Given the description of an element on the screen output the (x, y) to click on. 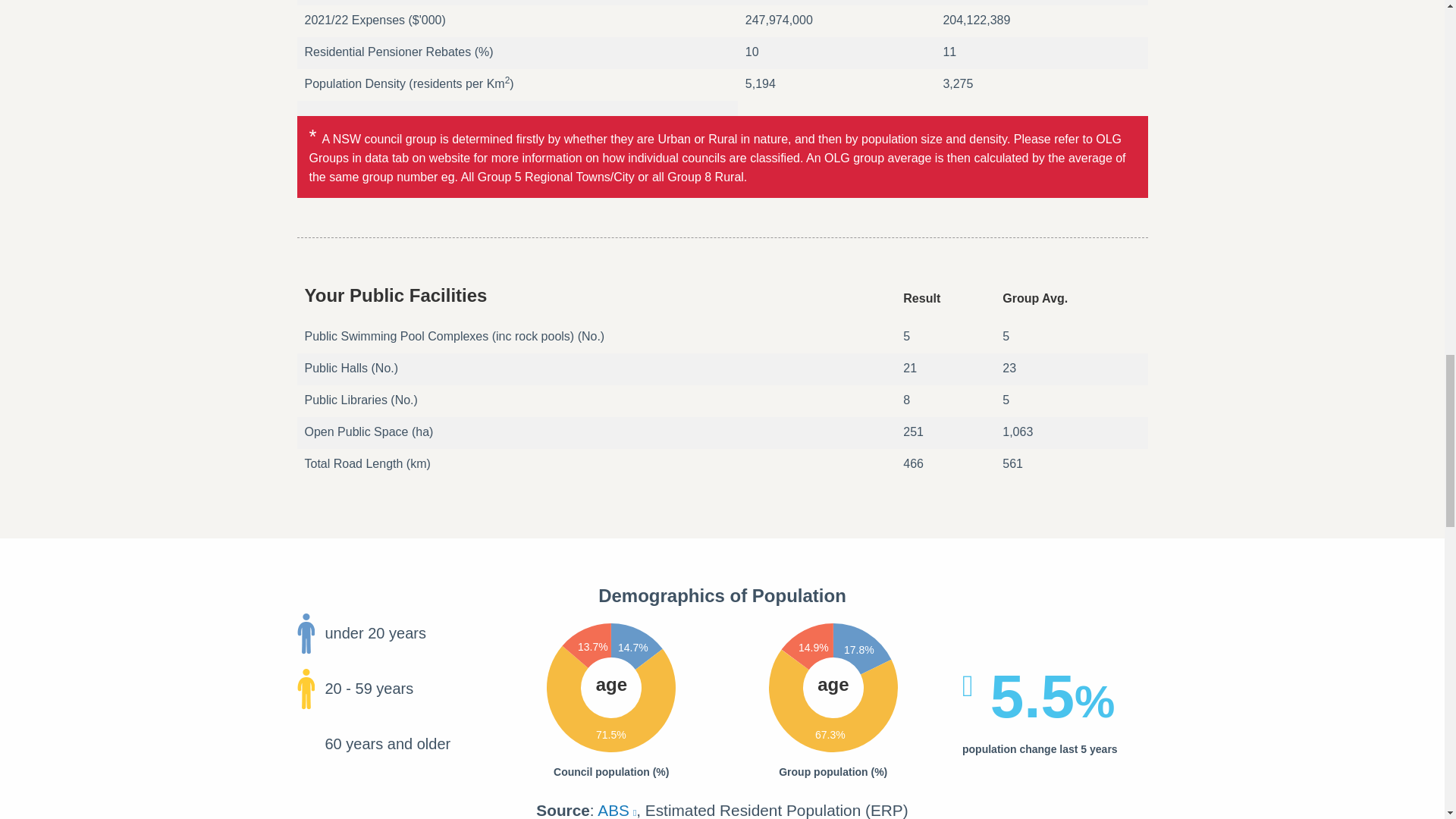
ABS (616, 810)
